Given the description of an element on the screen output the (x, y) to click on. 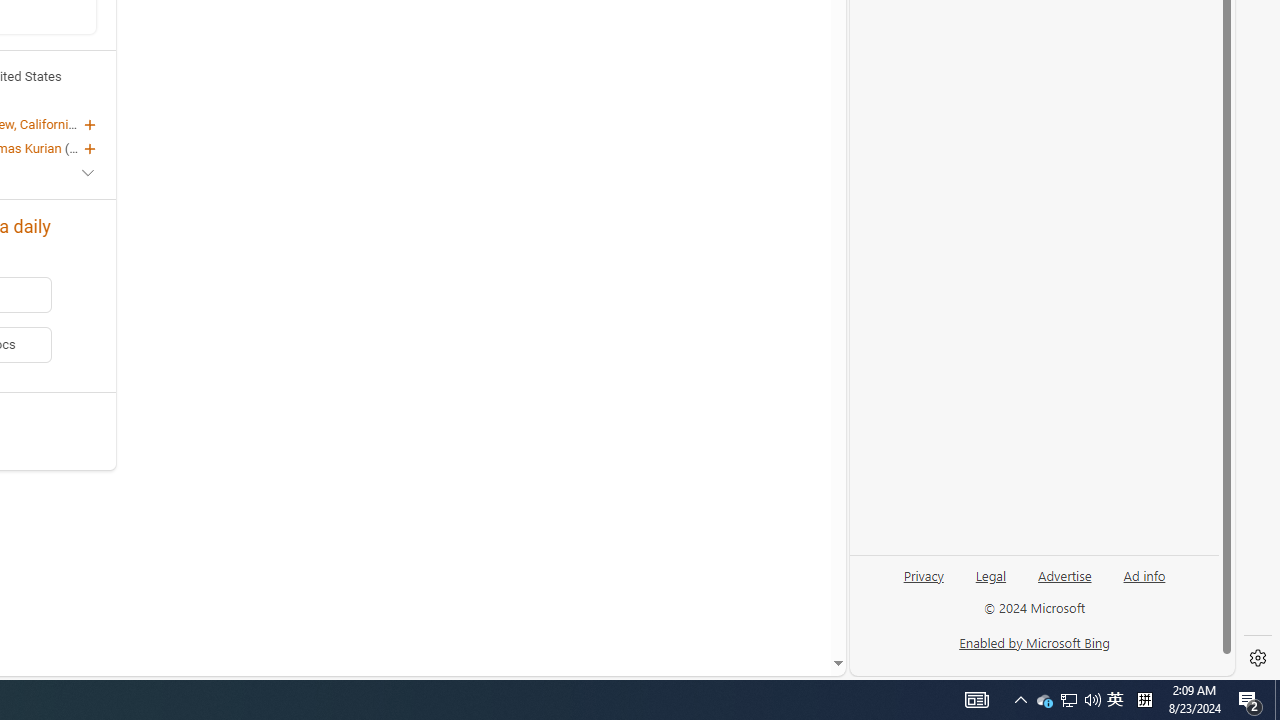
Search more (792, 604)
AutomationID: mfa_root (762, 603)
CEO (81, 147)
